Given the description of an element on the screen output the (x, y) to click on. 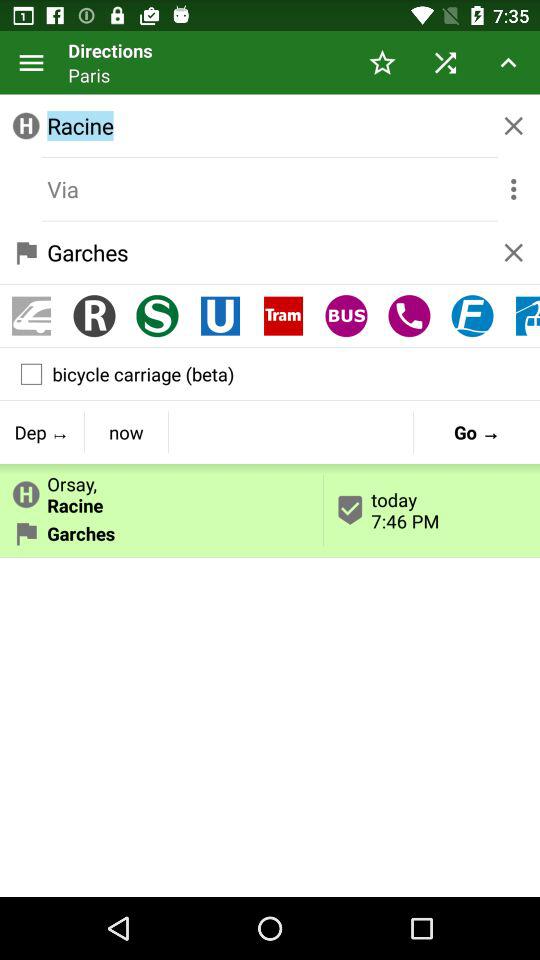
select the checkbox above the bicycle carriage (beta) checkbox (472, 315)
